Given the description of an element on the screen output the (x, y) to click on. 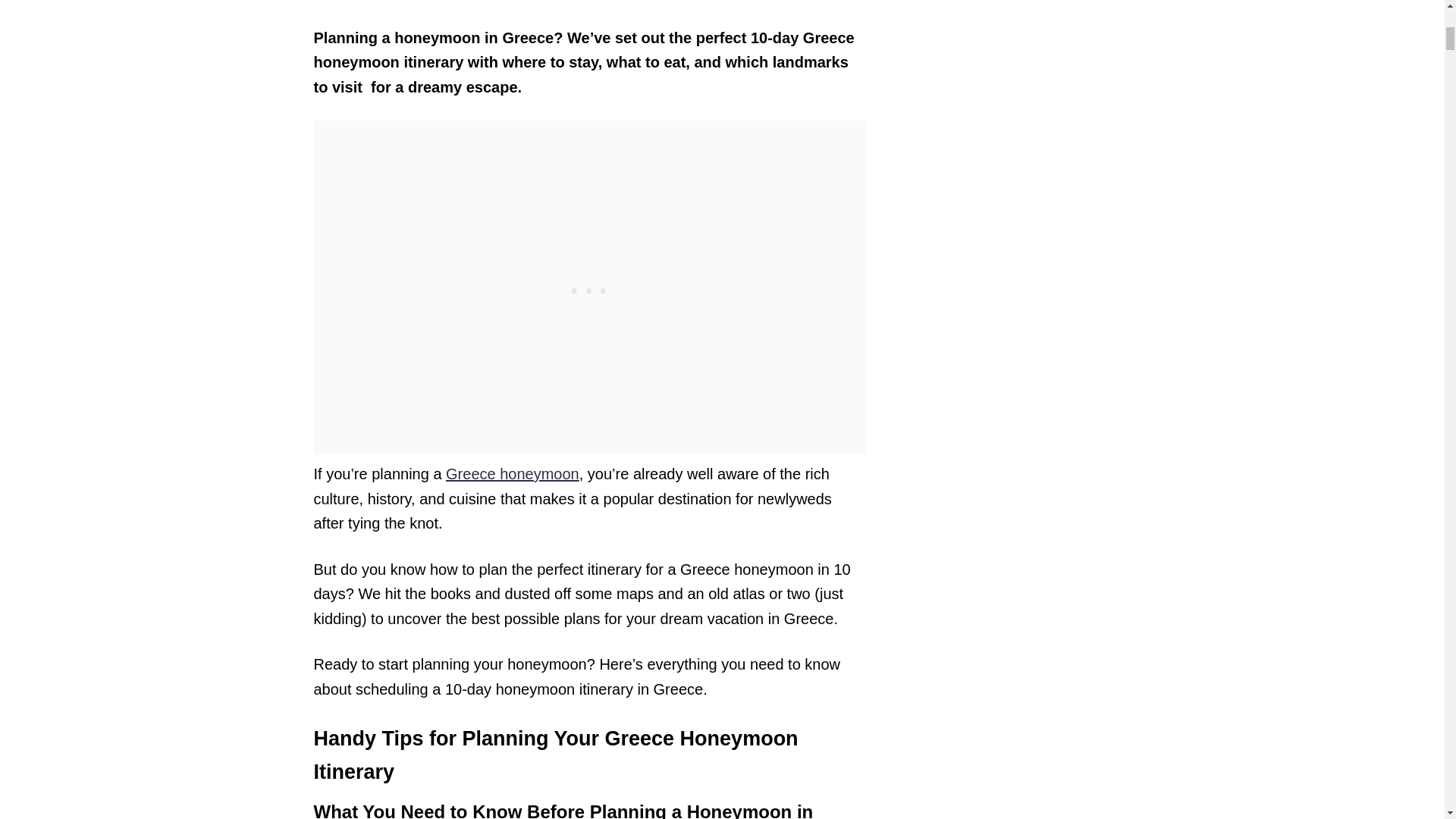
Greece honeymoon (512, 474)
